Given the description of an element on the screen output the (x, y) to click on. 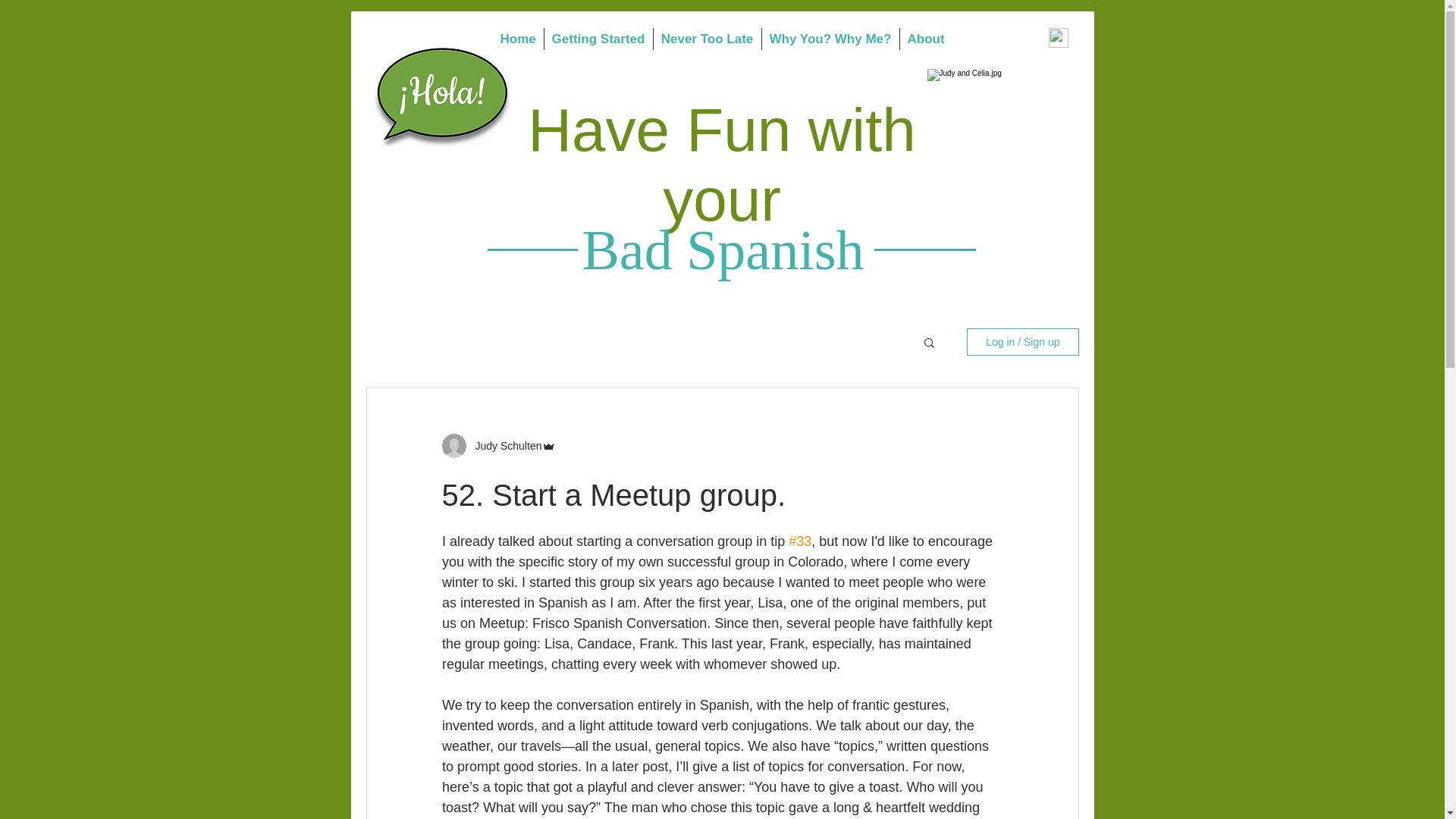
About (925, 38)
Have Fun with your (721, 164)
Getting Started (598, 38)
Why You? Why Me? (829, 38)
Home (518, 38)
Bad Spanish (721, 250)
Judy Schulten (503, 446)
Never Too Late (707, 38)
